Given the description of an element on the screen output the (x, y) to click on. 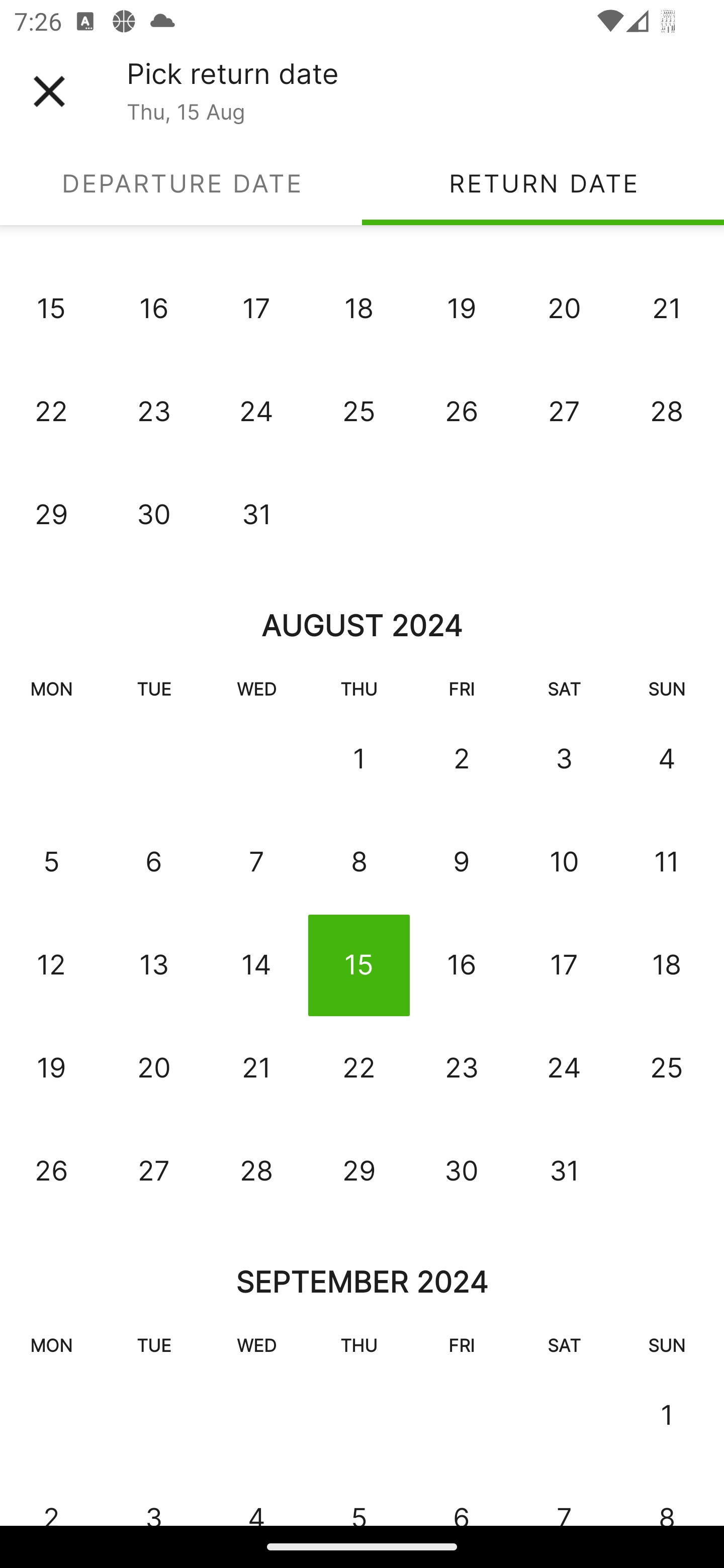
Departure Date DEPARTURE DATE (181, 183)
